Given the description of an element on the screen output the (x, y) to click on. 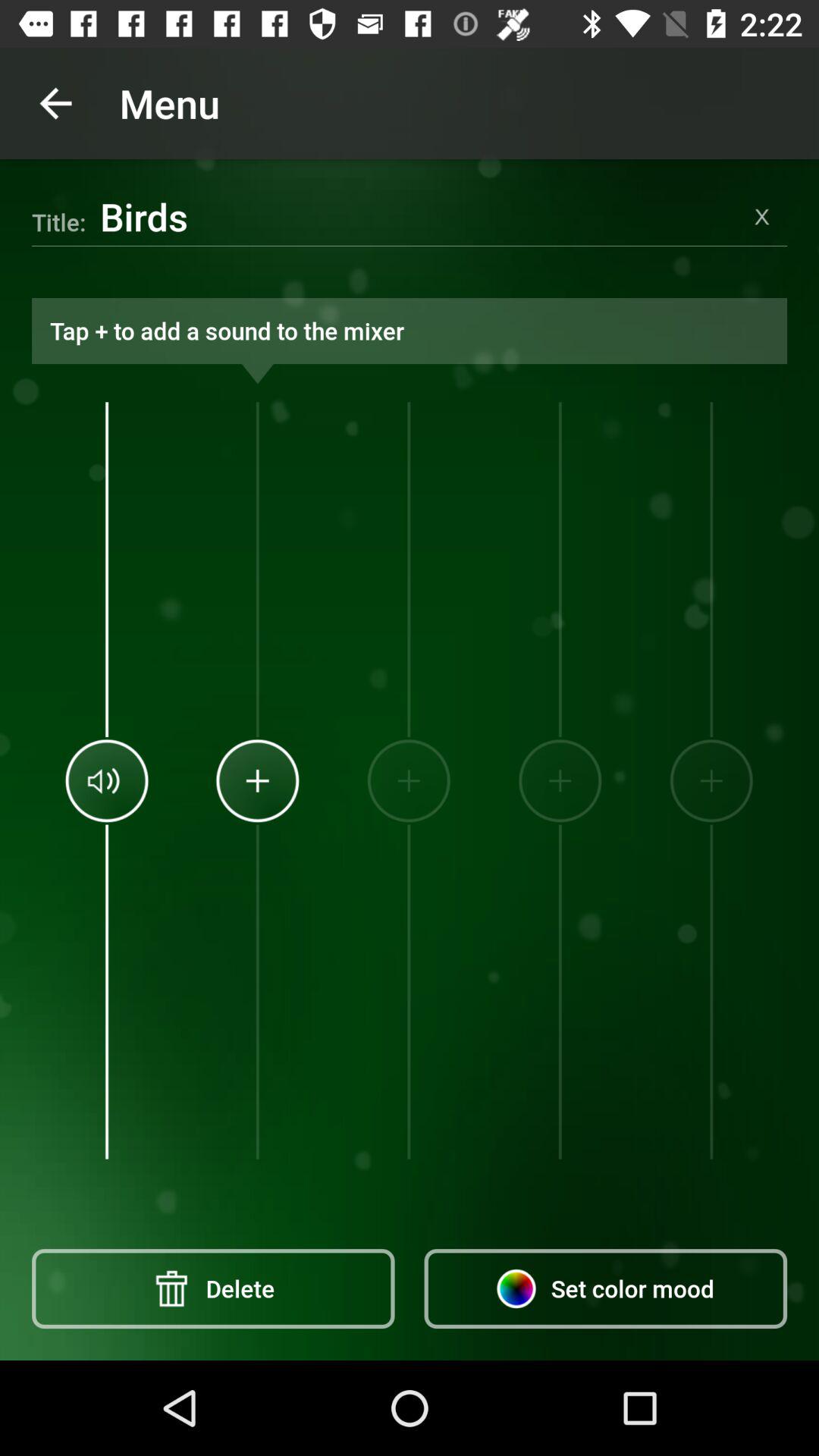
open icon to the left of menu app (55, 103)
